Given the description of an element on the screen output the (x, y) to click on. 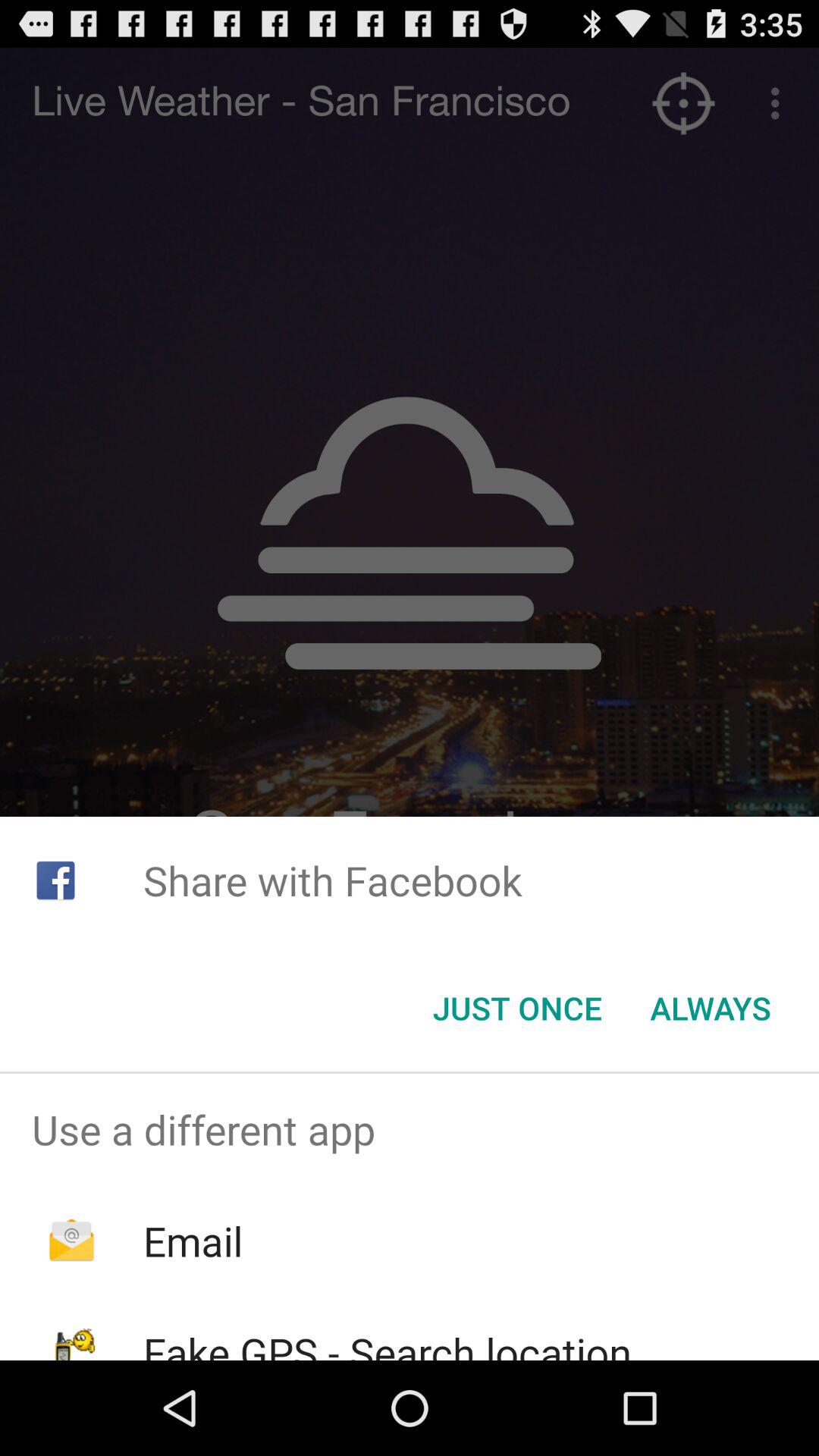
turn on email (192, 1240)
